Given the description of an element on the screen output the (x, y) to click on. 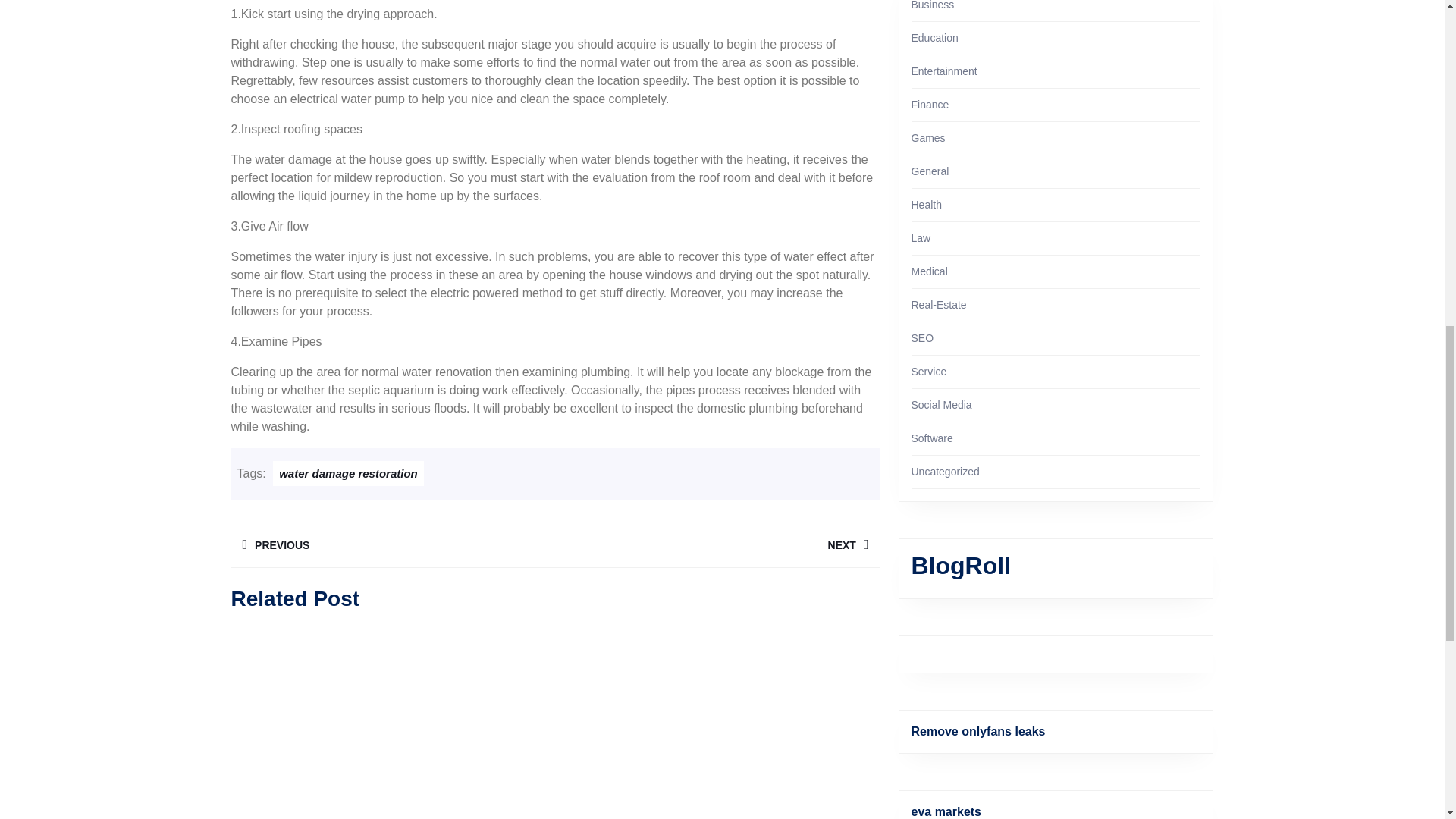
Games (927, 137)
Health (926, 204)
Business (933, 5)
General (716, 544)
Entertainment (930, 171)
Finance (943, 70)
Law (392, 544)
Education (930, 104)
